Given the description of an element on the screen output the (x, y) to click on. 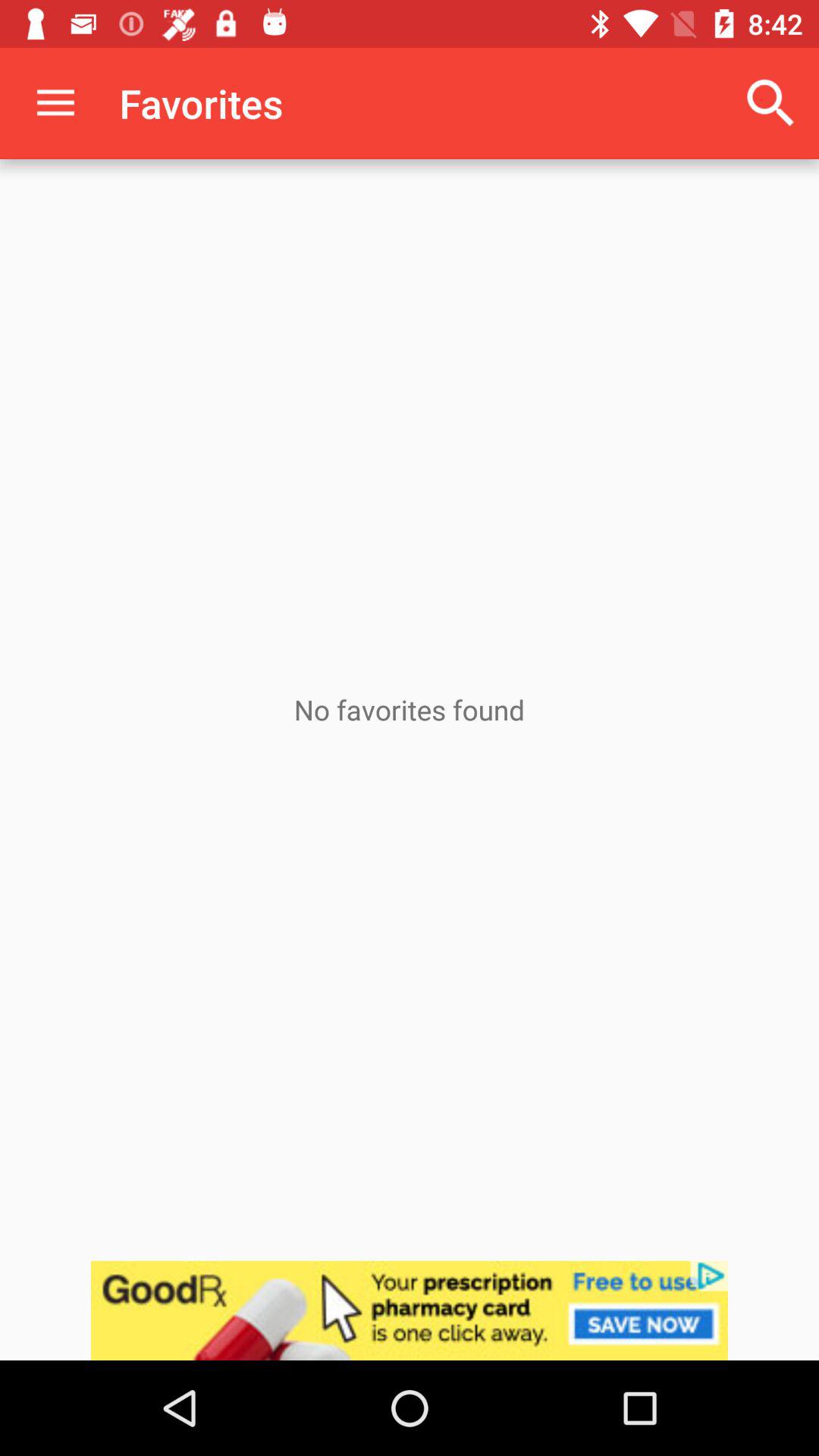
advertise a website (409, 1310)
